Given the description of an element on the screen output the (x, y) to click on. 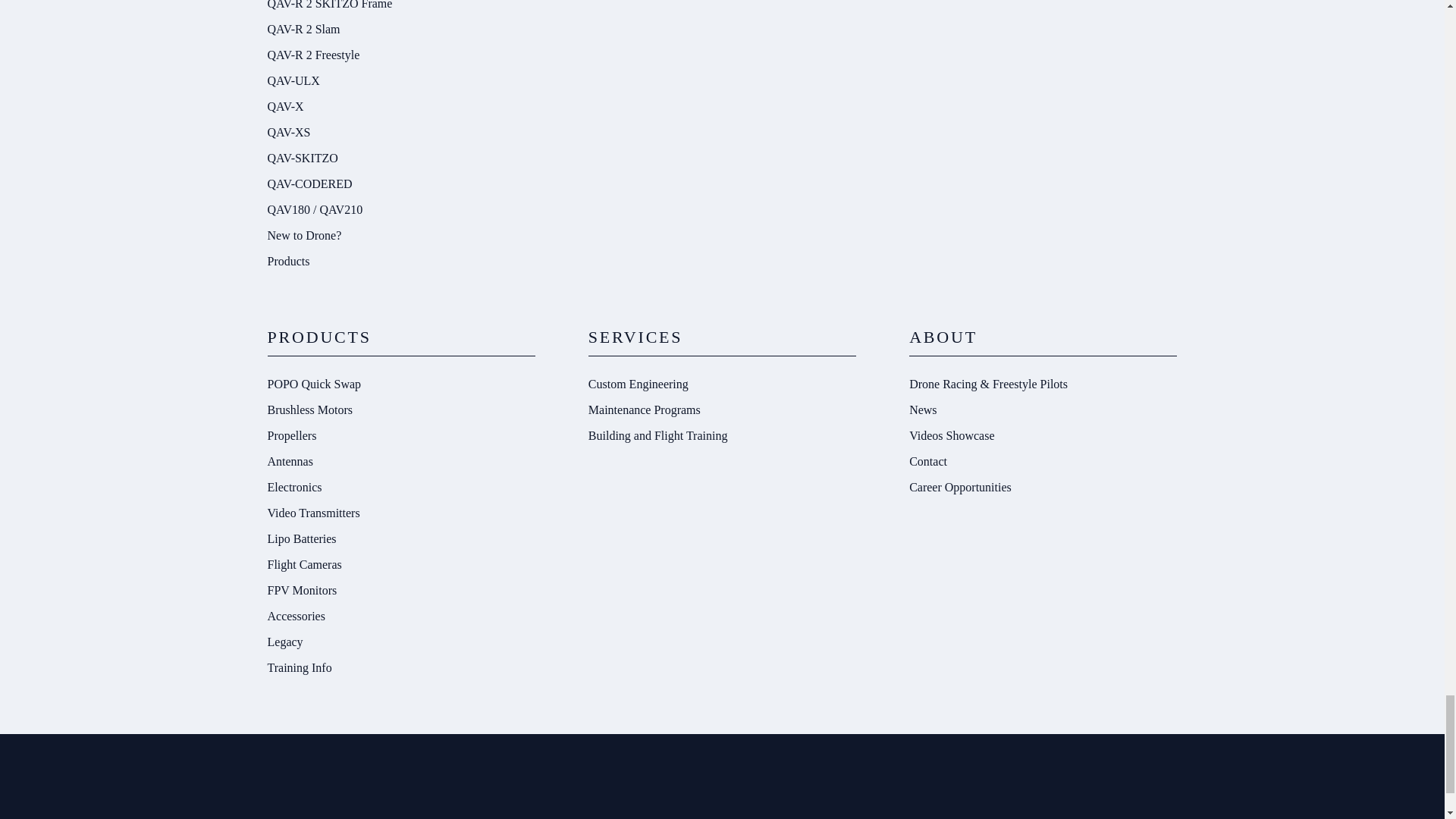
QAV-R 2 SKITZO Frame (400, 8)
QAV-R 2 Slam (400, 29)
